Given the description of an element on the screen output the (x, y) to click on. 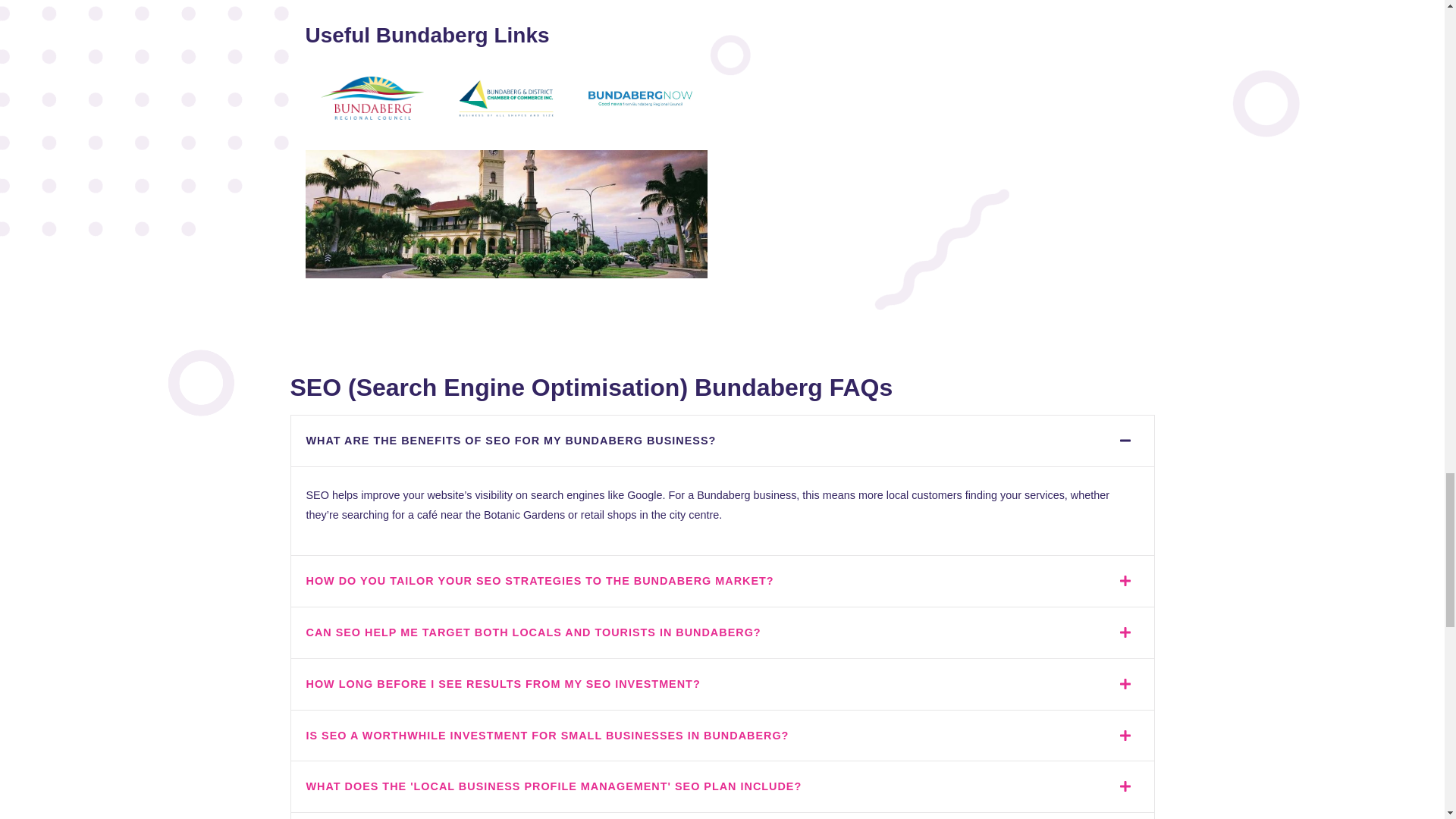
HOW LONG BEFORE I SEE RESULTS FROM MY SEO INVESTMENT? (502, 684)
WHAT ARE THE BENEFITS OF SEO FOR MY BUNDABERG BUSINESS? (510, 440)
